Given the description of an element on the screen output the (x, y) to click on. 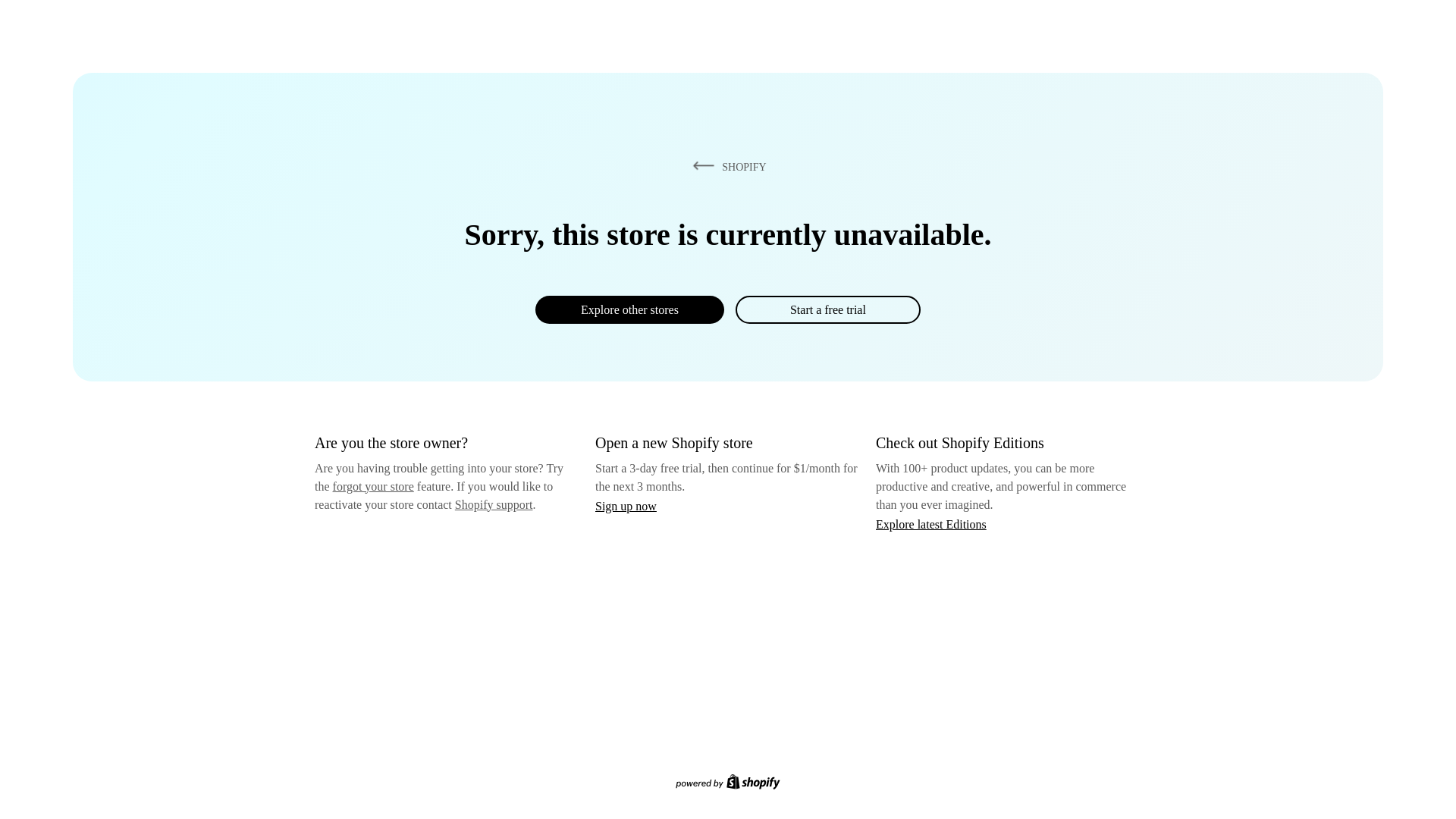
Explore other stores (629, 309)
SHOPIFY (726, 166)
Shopify support (493, 504)
Start a free trial (827, 309)
forgot your store (373, 486)
Sign up now (625, 505)
Explore latest Editions (931, 523)
